Given the description of an element on the screen output the (x, y) to click on. 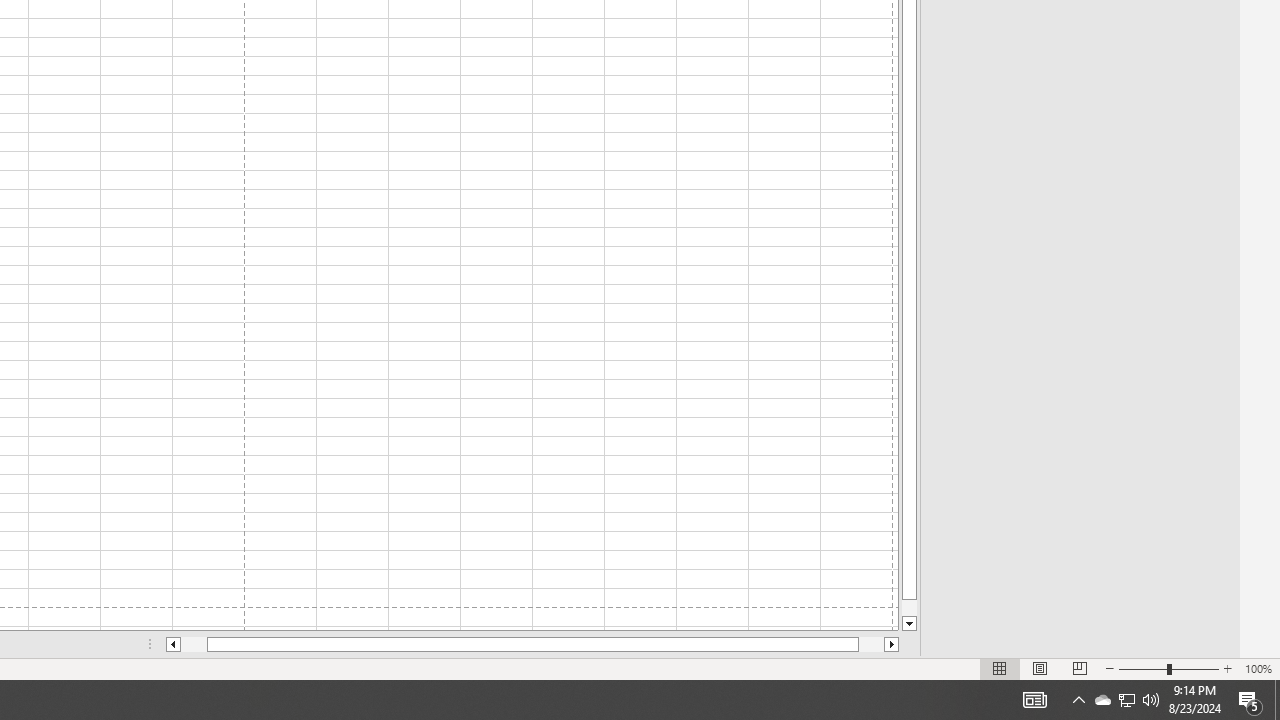
Action Center, 5 new notifications (1126, 699)
